Given the description of an element on the screen output the (x, y) to click on. 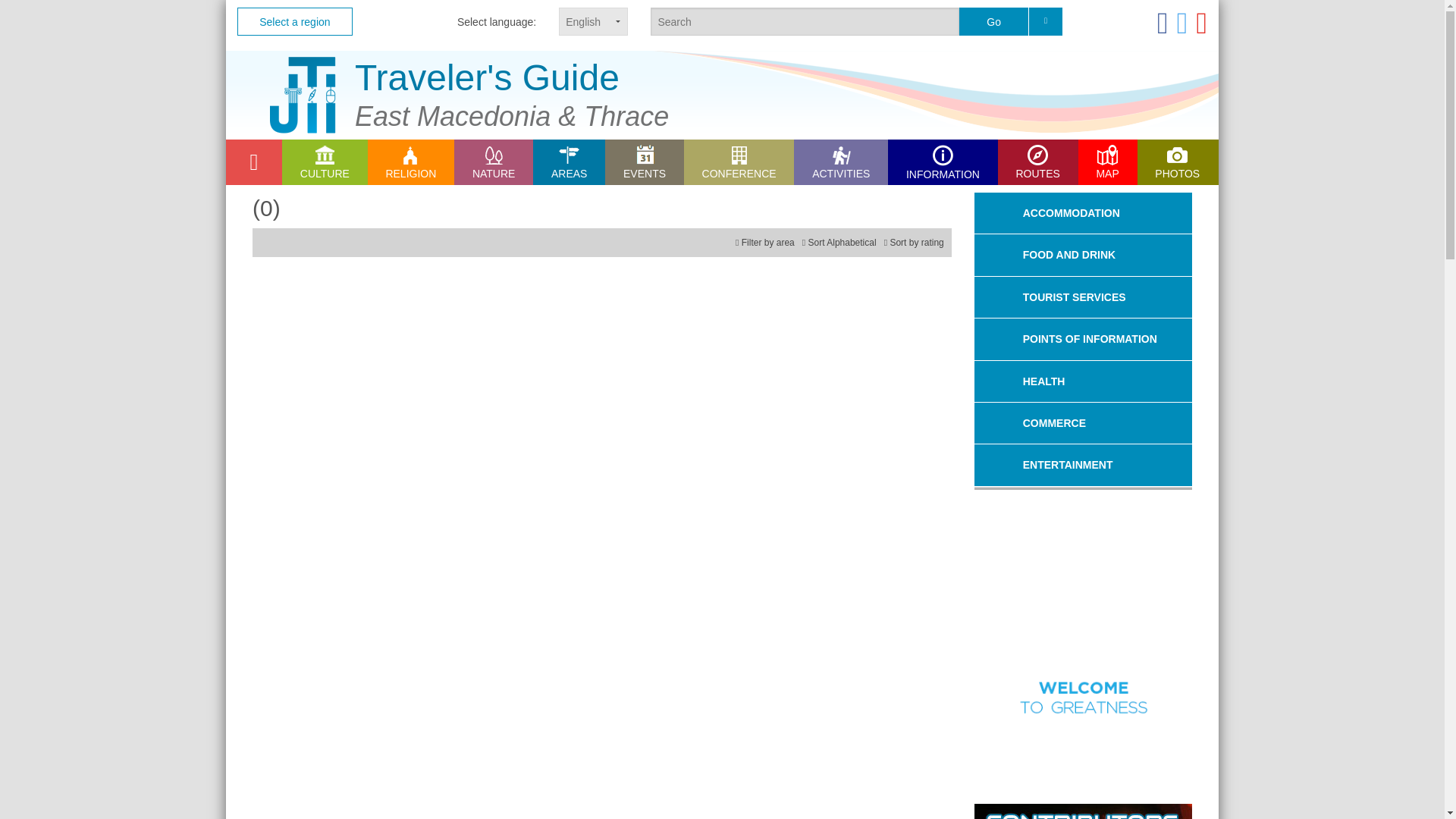
EVENTS (644, 162)
Go (993, 21)
JTI Contribute Team (1083, 811)
CULTURE (325, 162)
RELIGION (411, 162)
NATURE (493, 162)
Select a region (294, 21)
Go (993, 21)
Youtube Channel (1201, 22)
Facebook (1163, 22)
AREAS (568, 162)
Twitter (1182, 22)
